Given the description of an element on the screen output the (x, y) to click on. 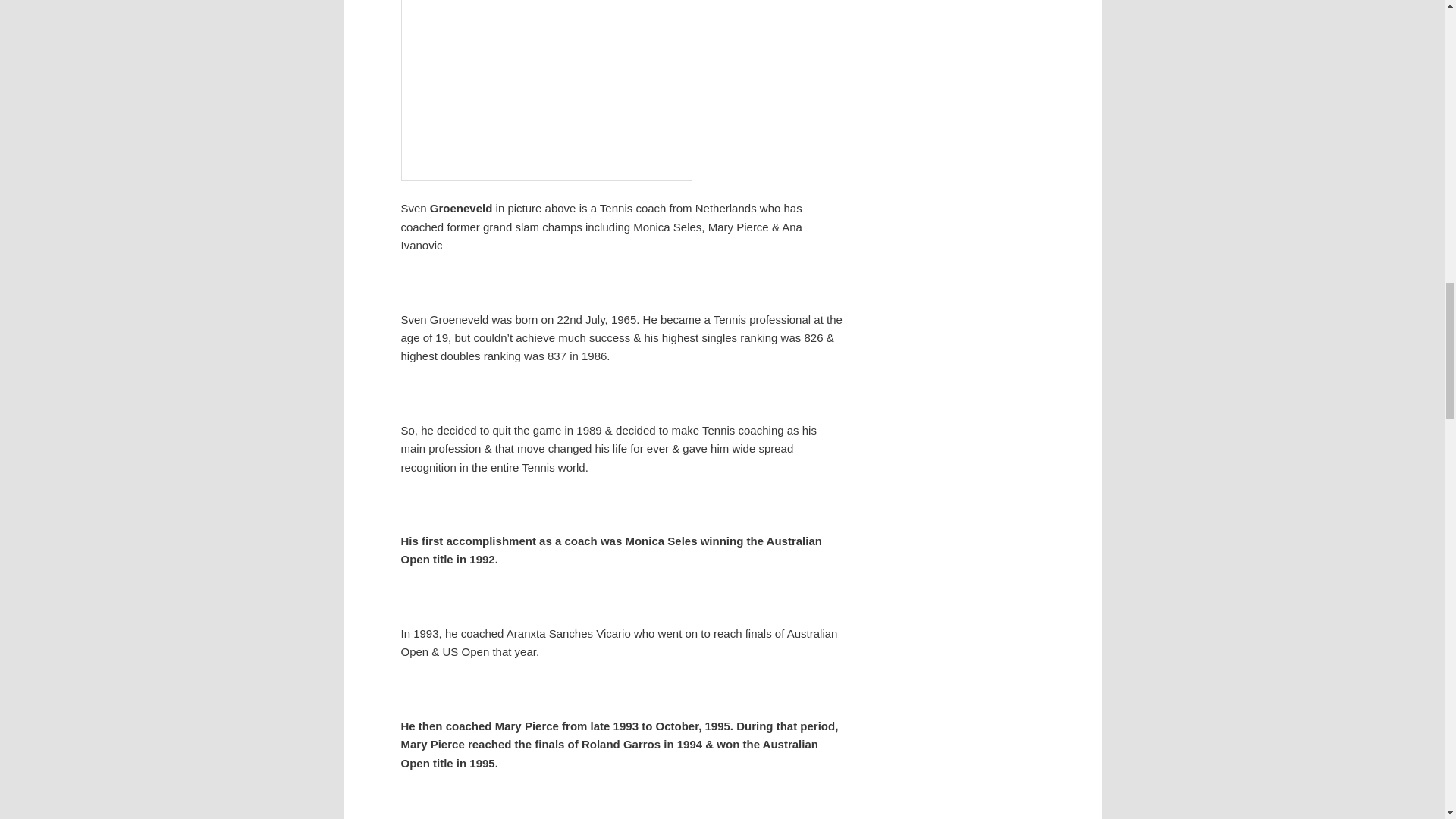
sven (545, 90)
